Given the description of an element on the screen output the (x, y) to click on. 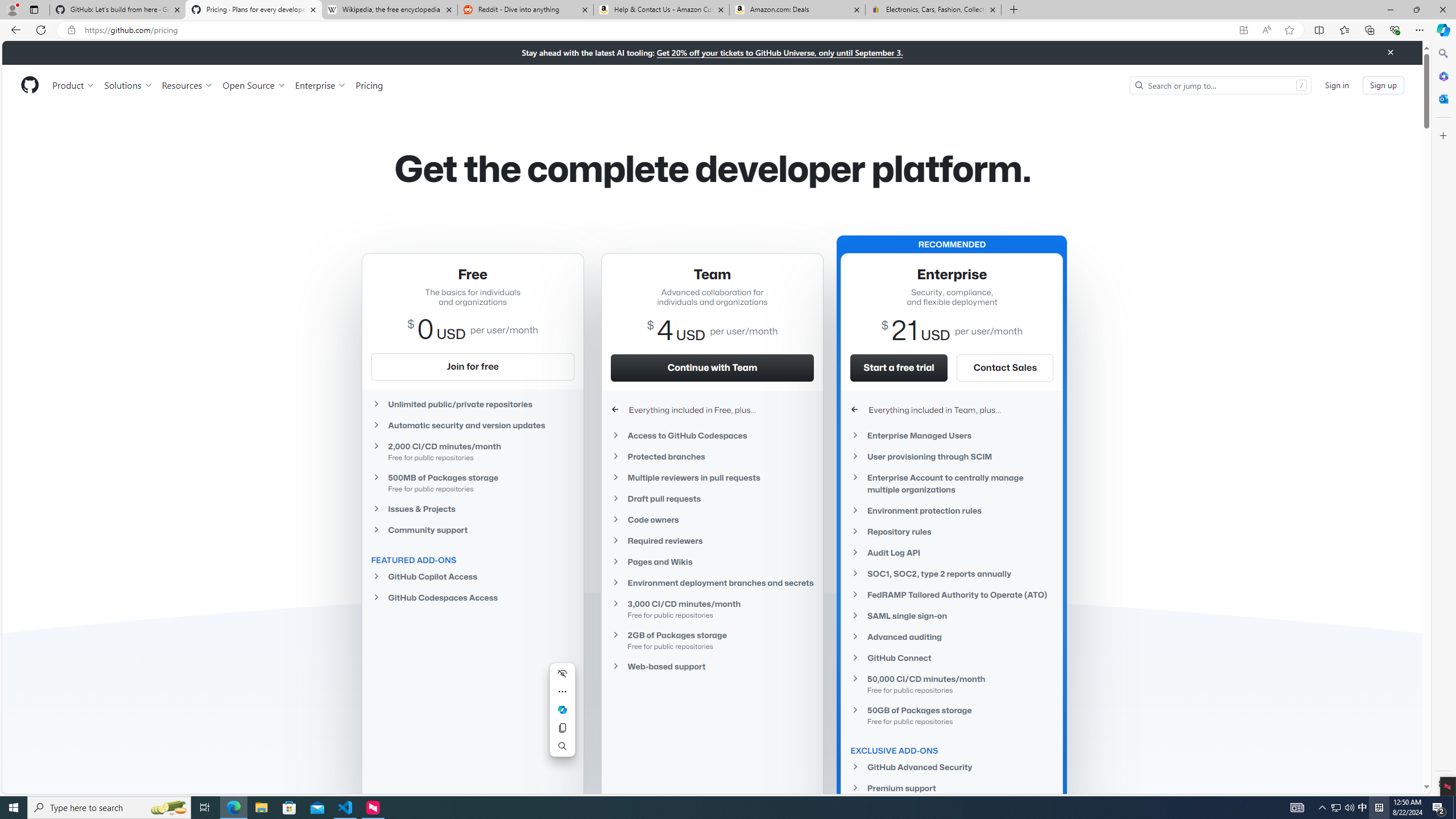
Everything included in Free, plus... (711, 409)
SOC1, SOC2, type 2 reports annually (952, 573)
Solutions (128, 84)
500MB of Packages storage Free for public repositories (473, 482)
Unlimited public/private repositories (473, 404)
Enterprise Managed Users (952, 435)
Product (74, 84)
Repository rules (952, 531)
